Given the description of an element on the screen output the (x, y) to click on. 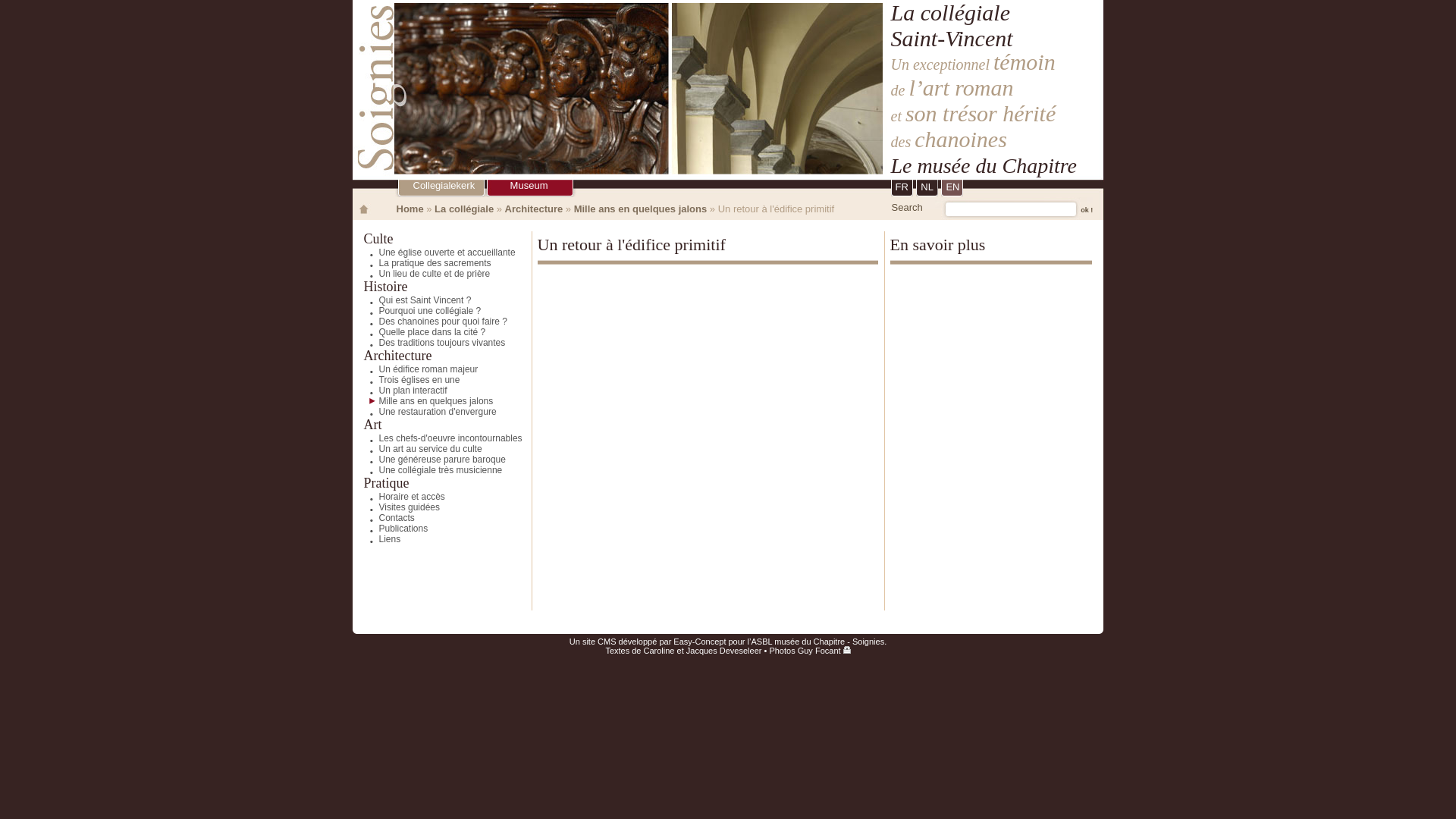
NL Element type: text (927, 188)
ok ! Element type: text (1082, 207)
Une restauration d'envergure Element type: text (423, 411)
Qui est Saint Vincent ? Element type: text (410, 299)
Les chefs-d'oeuvre incontournables Element type: text (436, 438)
Liens Element type: text (375, 538)
Architecture Element type: text (398, 355)
Publications Element type: text (389, 528)
Des traditions toujours vivantes Element type: text (428, 342)
Home Element type: text (409, 208)
FR Element type: text (901, 188)
Mille ans en quelques jalons Element type: text (640, 208)
La pratique des sacrements Element type: text (420, 262)
Des chanoines pour quoi faire ? Element type: text (428, 321)
Architecture Element type: text (534, 208)
Art Element type: text (373, 424)
Un art au service du culte Element type: text (416, 448)
Histoire Element type: text (385, 286)
Contacts Element type: text (382, 517)
Culte Element type: text (378, 238)
Un plan interactif Element type: text (398, 390)
Museum Element type: text (529, 185)
Collegialekerk Element type: text (443, 185)
EN Element type: text (952, 188)
Mille ans en quelques jalons Element type: text (421, 400)
Pratique Element type: text (386, 482)
